Given the description of an element on the screen output the (x, y) to click on. 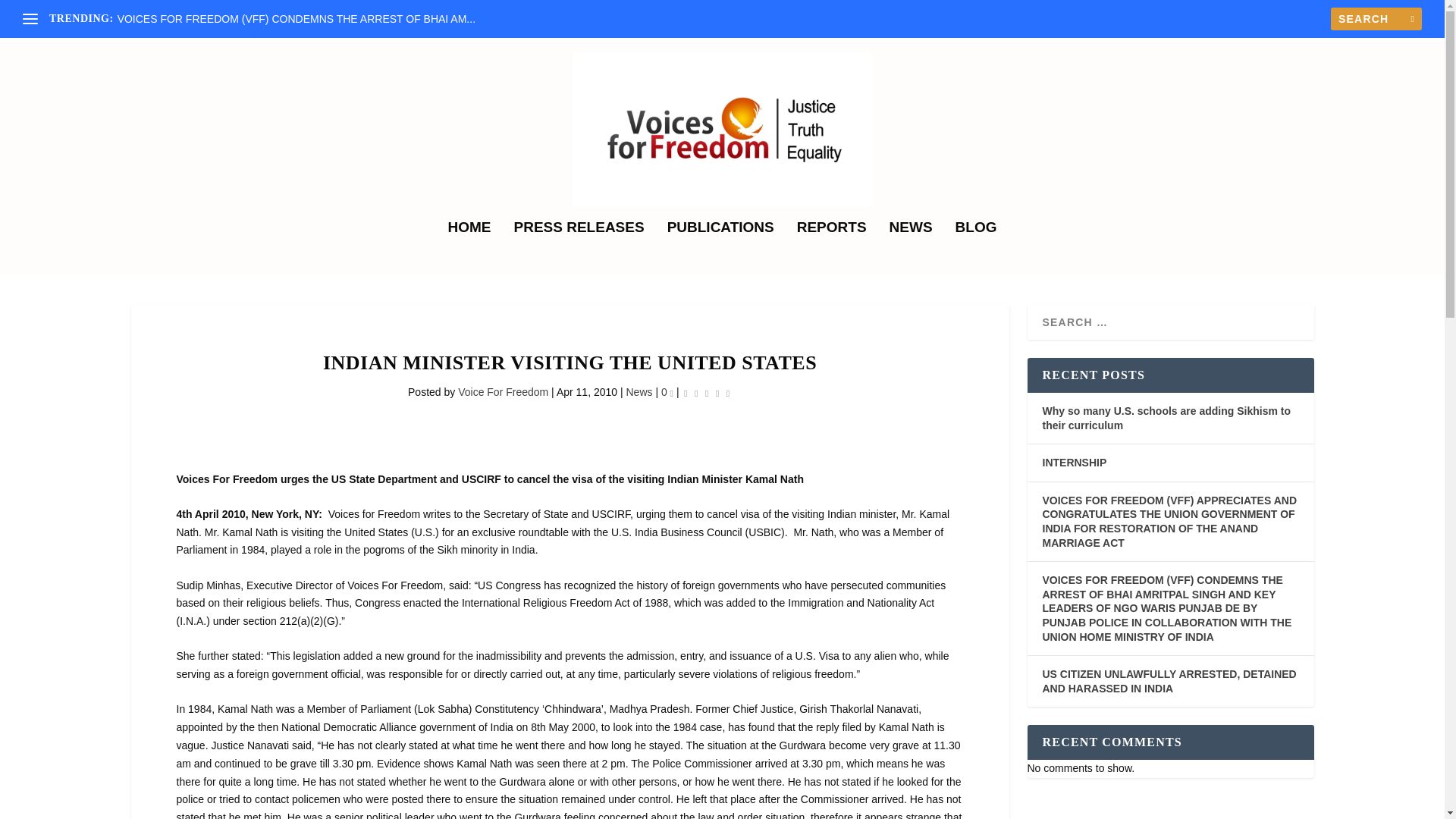
Search for: (1376, 18)
Posts by Voice For Freedom (503, 391)
0 (666, 391)
PRESS RELEASES (579, 247)
REPORTS (831, 247)
PUBLICATIONS (720, 247)
Voice For Freedom (503, 391)
News (639, 391)
Rating: 0.00 (706, 393)
